Given the description of an element on the screen output the (x, y) to click on. 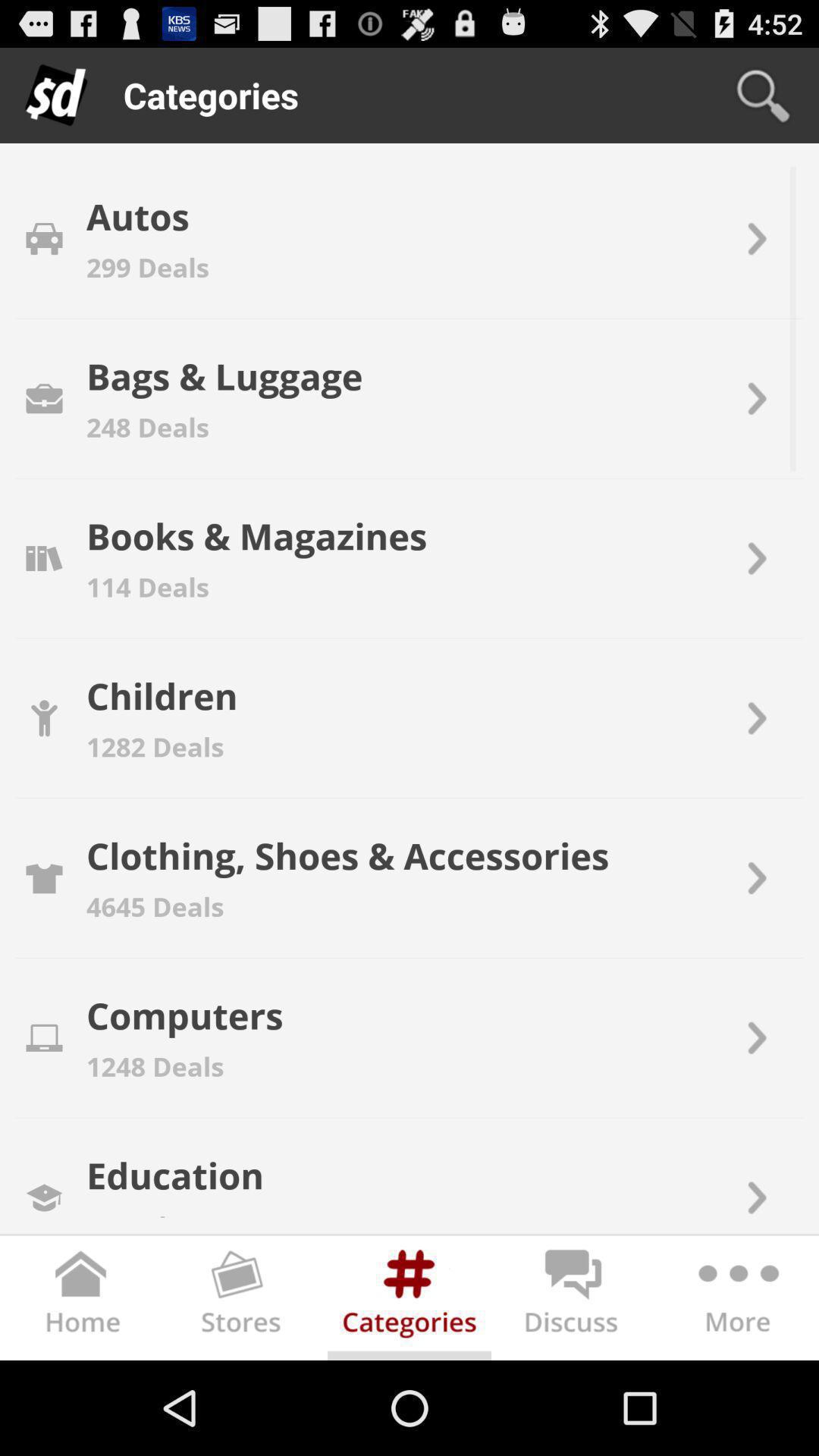
esta opo abrir uma nova pagina com mais descries (736, 1300)
